Given the description of an element on the screen output the (x, y) to click on. 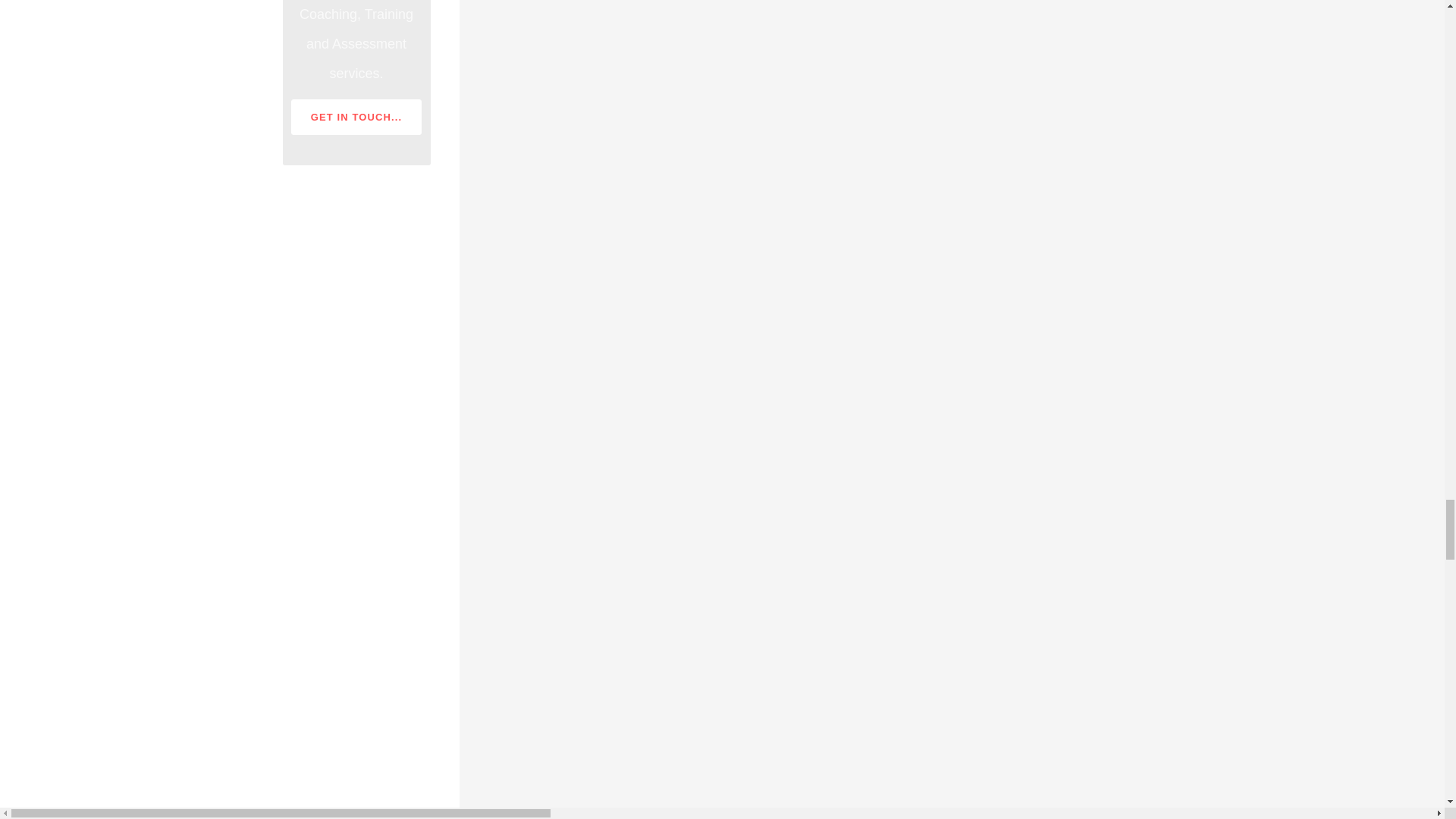
GET IN TOUCH... (356, 117)
